Given the description of an element on the screen output the (x, y) to click on. 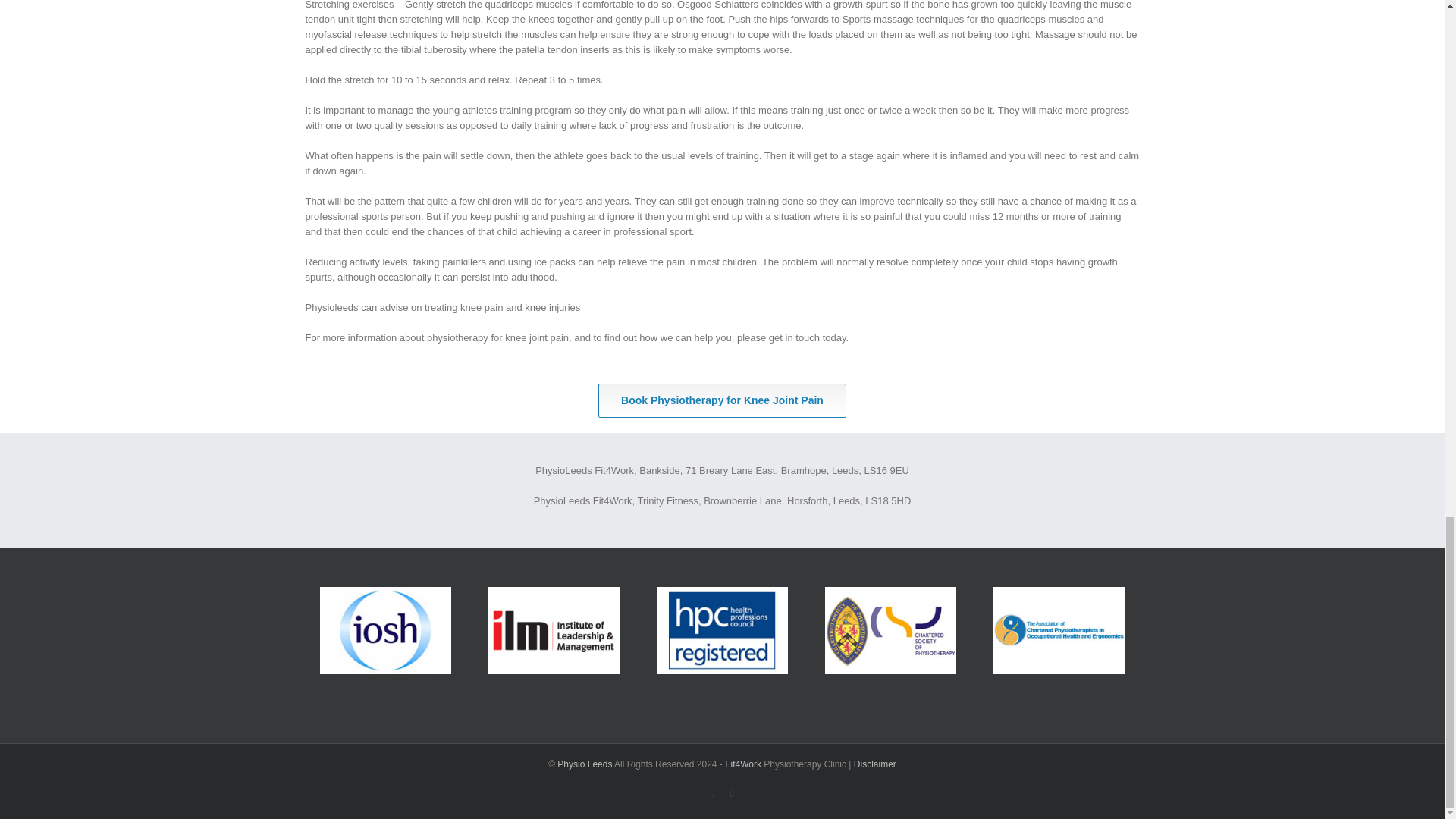
Physio Leeds (584, 764)
Fit4Work (743, 764)
Book Physiotherapy for Knee Joint Pain (721, 400)
Disclaimer (874, 764)
